Given the description of an element on the screen output the (x, y) to click on. 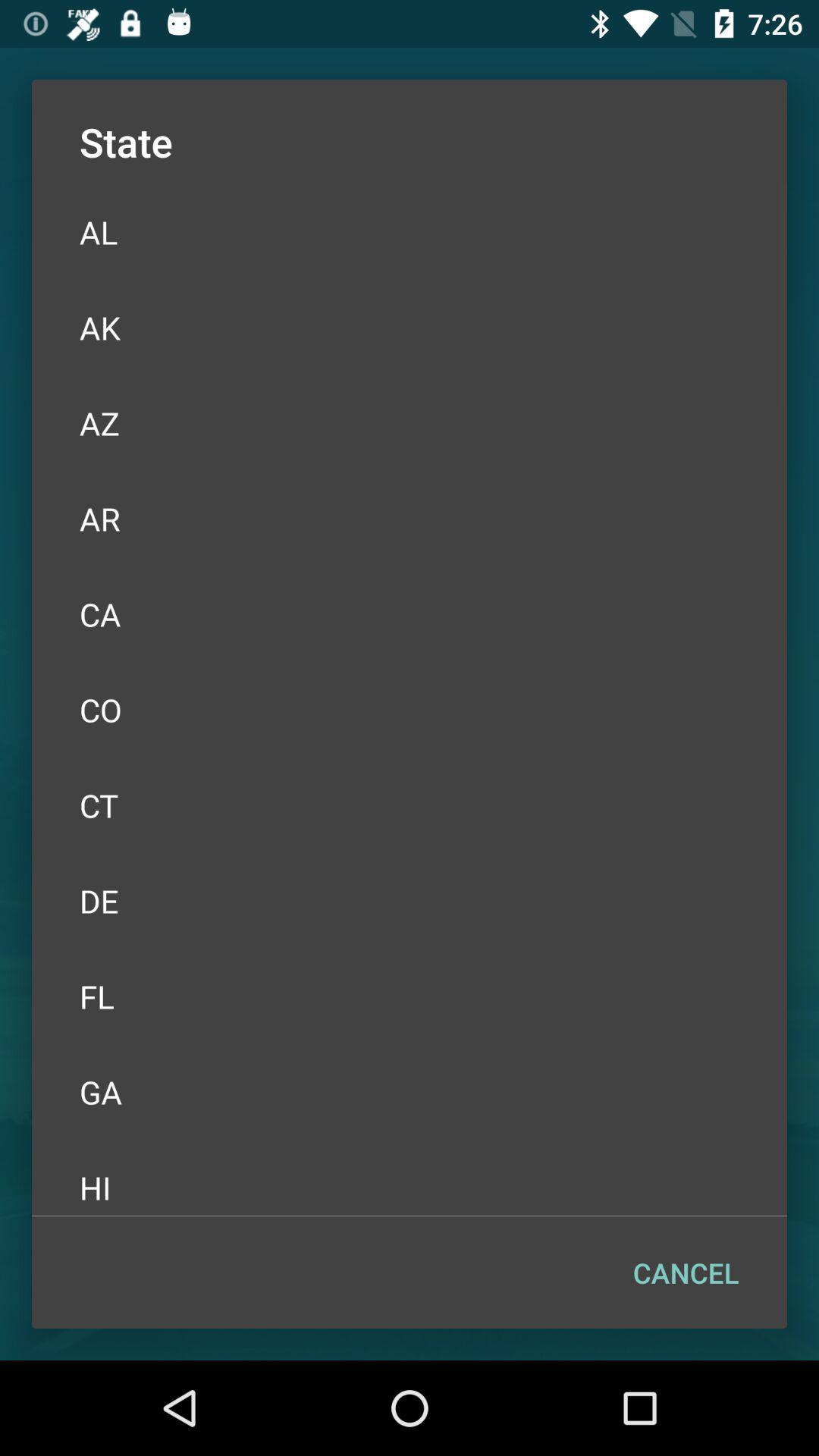
click icon above ak (409, 231)
